Given the description of an element on the screen output the (x, y) to click on. 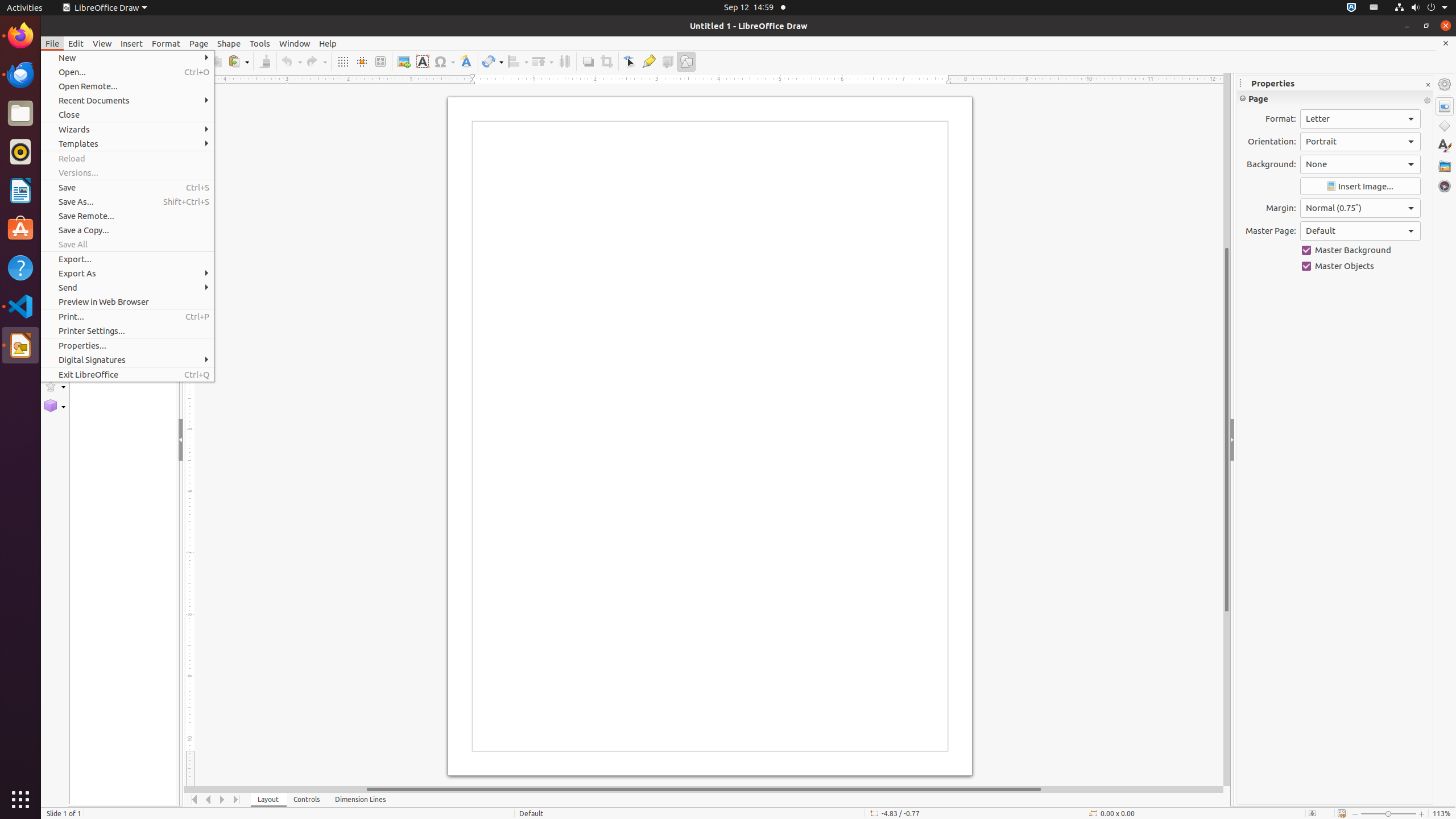
Digital Signatures Element type: menu (127, 359)
Properties Element type: radio-button (1444, 106)
Shadow Element type: toggle-button (587, 61)
Redo Element type: push-button (315, 61)
Undo Element type: push-button (290, 61)
